Given the description of an element on the screen output the (x, y) to click on. 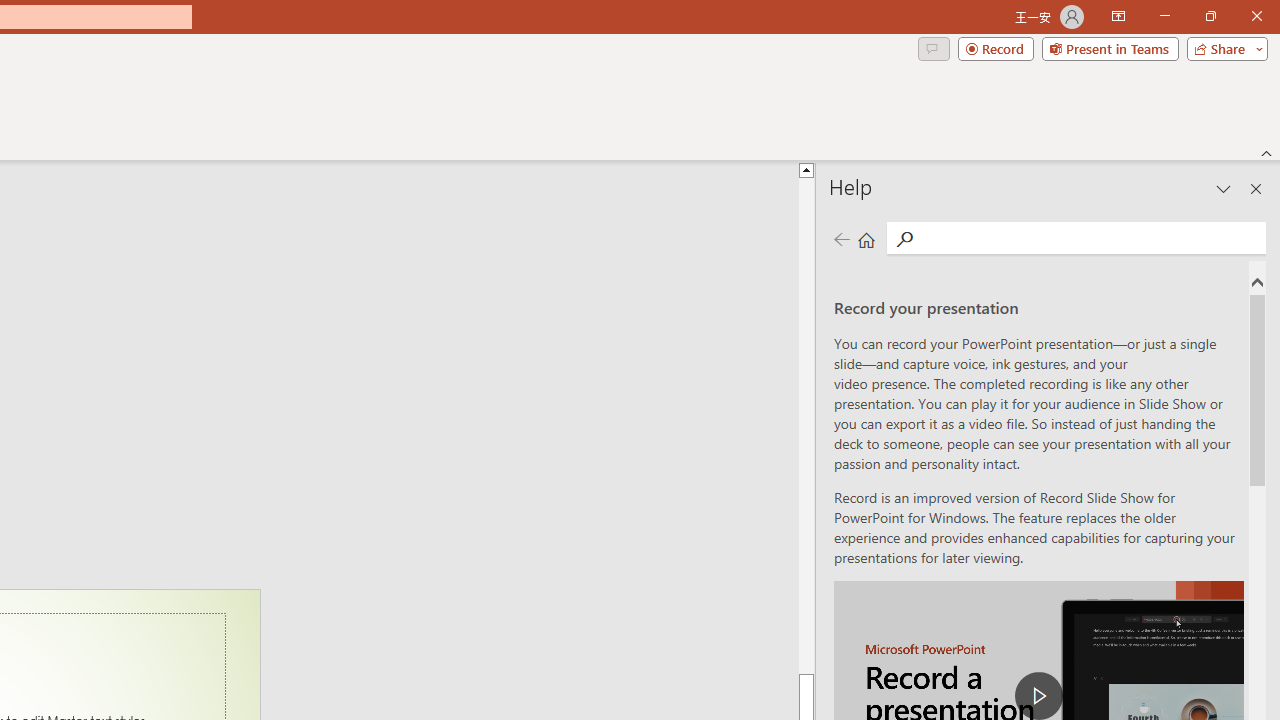
Previous page (841, 238)
